Given the description of an element on the screen output the (x, y) to click on. 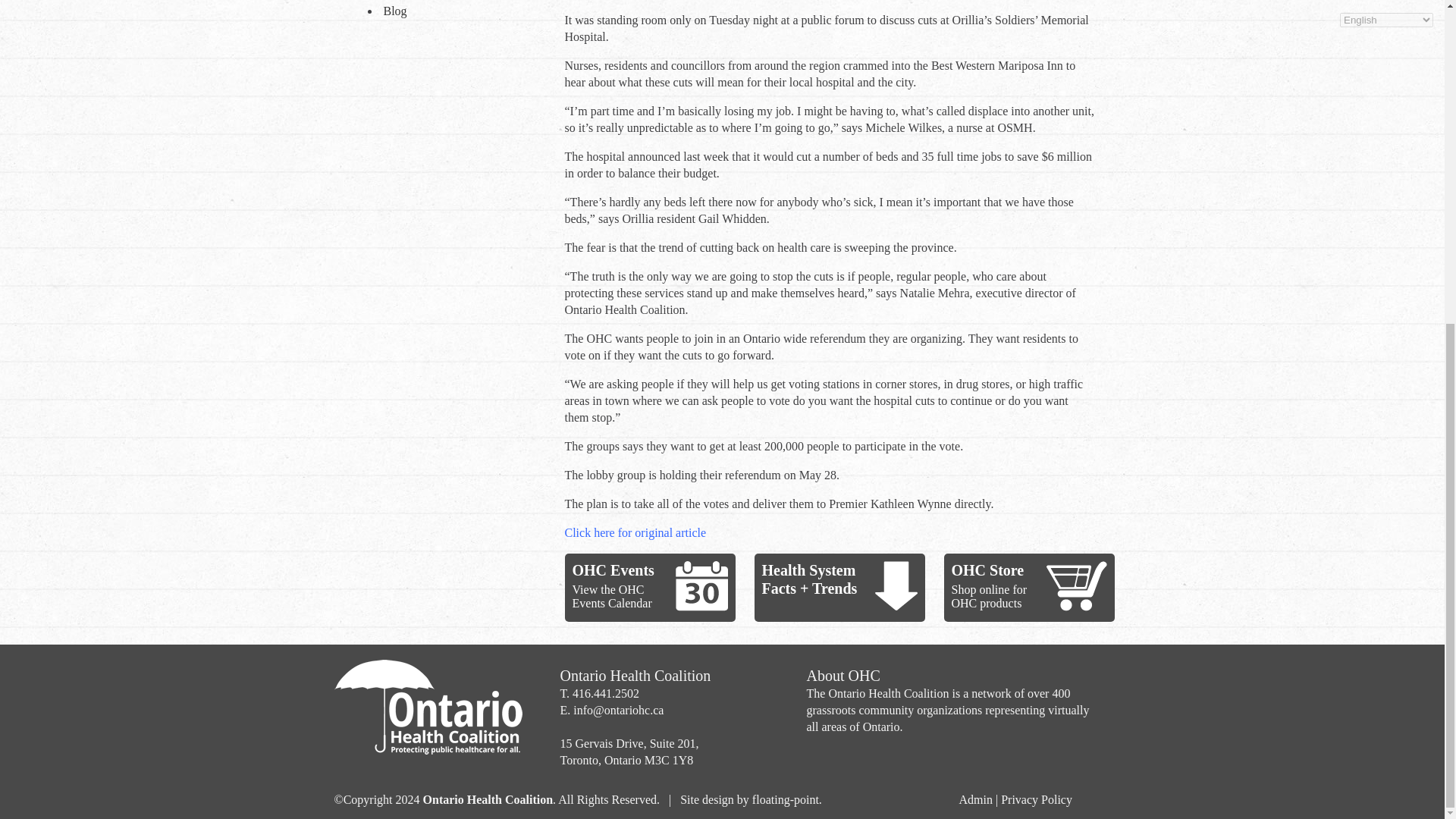
Click here for original article (635, 532)
OHC Events (612, 569)
floating-point (785, 799)
Blog (452, 12)
Privacy Policy (1036, 799)
Admin (974, 799)
Ontario Health Coalition Events (700, 585)
Shop online for OHC products (988, 596)
View the OHC Events Calendar (611, 596)
Newsletters (452, 1)
Ontario Health Coalition Store (1076, 585)
OHC Store (986, 569)
